Given the description of an element on the screen output the (x, y) to click on. 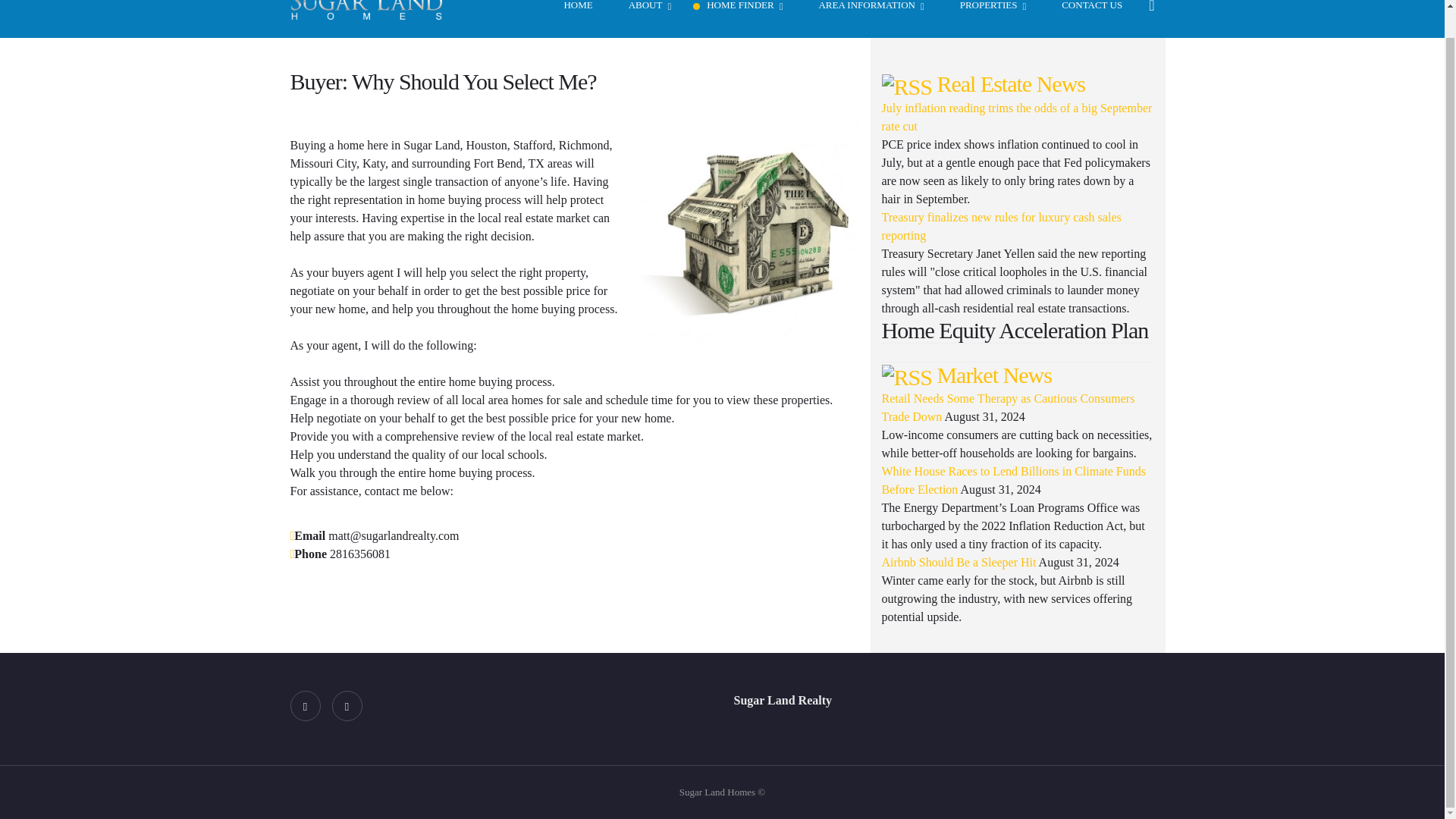
AREA INFORMATION (864, 18)
CONTACT US (1085, 18)
money-house (744, 231)
PROPERTIES (986, 18)
HOME FINDER (738, 18)
HOME (571, 18)
ABOUT (642, 18)
